Given the description of an element on the screen output the (x, y) to click on. 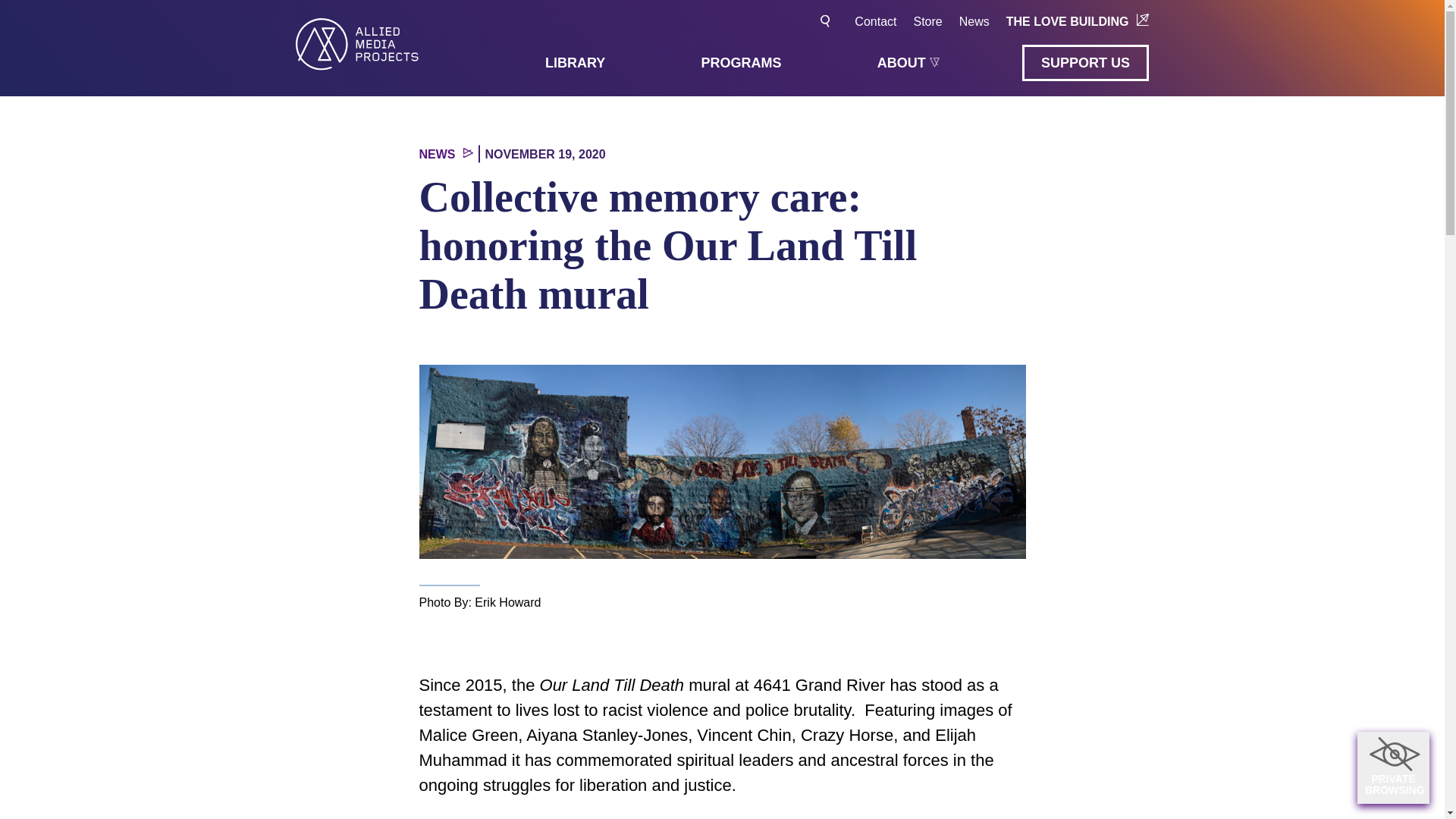
PROGRAMS (741, 62)
Store (927, 21)
Allied Media Projects homepage (357, 44)
ABOUT (908, 60)
NEWS (445, 154)
News (974, 21)
Submit search (826, 21)
Contact (875, 21)
LIBRARY (574, 62)
THE LOVE BUILDING (1077, 21)
SUPPORT US (1085, 63)
